Given the description of an element on the screen output the (x, y) to click on. 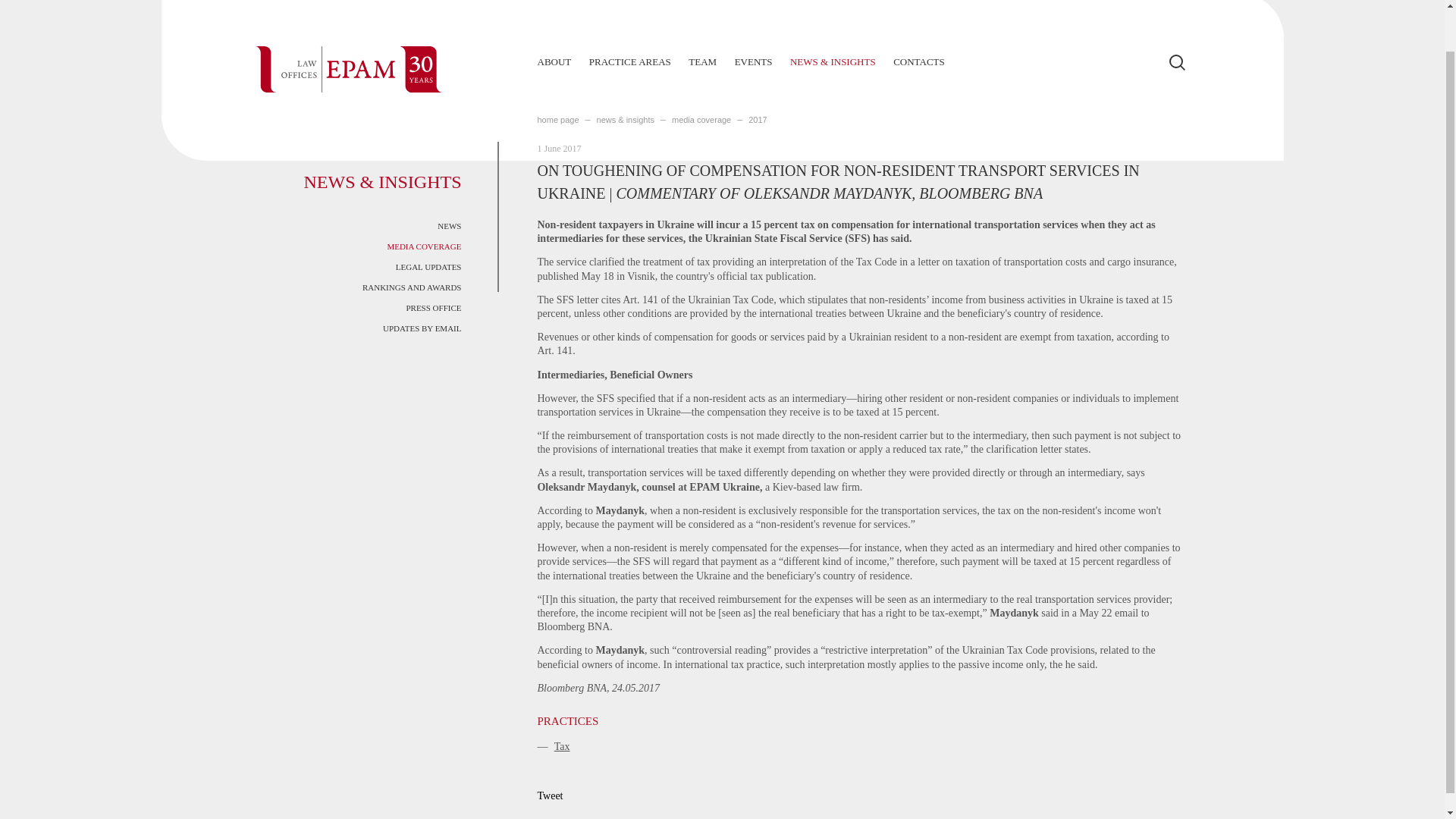
EVENTS (754, 61)
CONTACTS (918, 61)
TEAM (702, 61)
PRACTICE AREAS (630, 61)
ABOUT (553, 61)
